Given the description of an element on the screen output the (x, y) to click on. 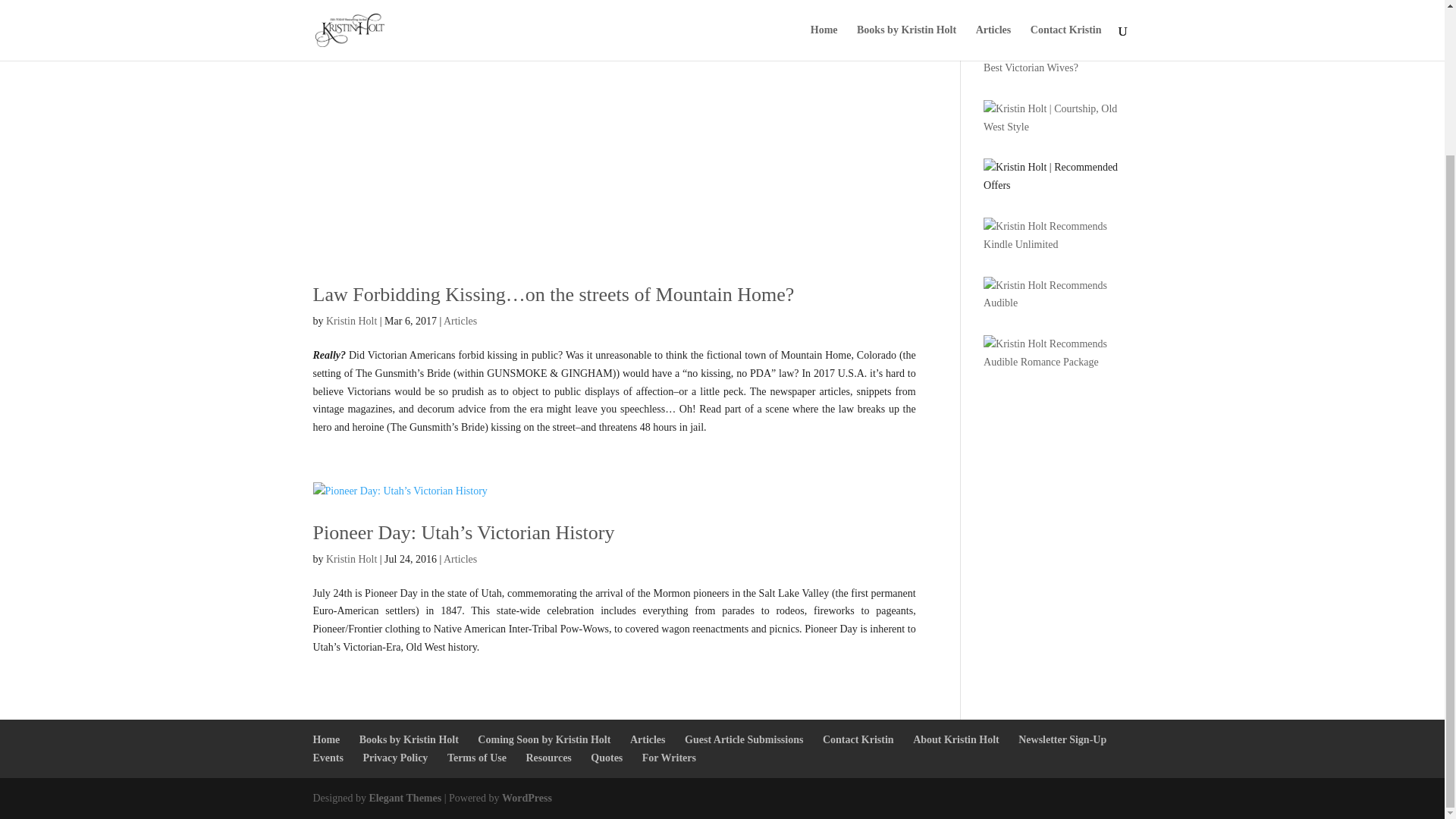
Books by Kristin Holt (408, 739)
Quotes (607, 757)
Privacy Policy (395, 757)
WordPress (526, 797)
Events (327, 757)
Articles (647, 739)
Articles (460, 320)
Contact Kristin (857, 739)
Posts by Kristin Holt (351, 559)
Articles (460, 559)
